Given the description of an element on the screen output the (x, y) to click on. 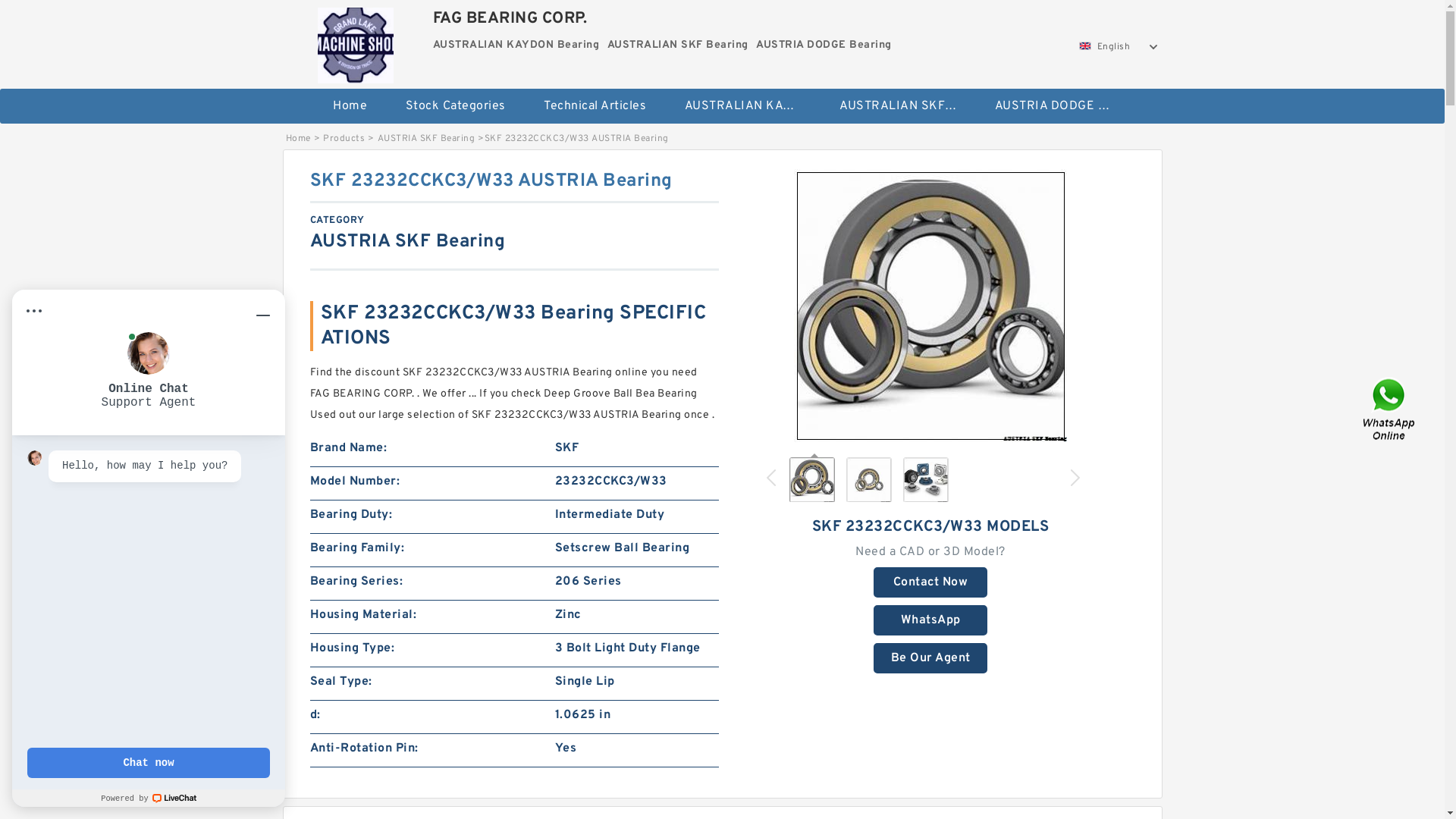
Home Element type: text (297, 138)
AUSTRIA SKF Bearing Element type: text (426, 138)
AUSTRALIAN SKF Bearing Element type: text (897, 105)
Contact Now Element type: text (930, 582)
AUSTRALIAN KAYDON Bearing Element type: text (743, 105)
Be Our Agent Element type: text (930, 658)
SKF 23232CCKC3/W33 AUSTRIA Bearing image Element type: hover (929, 305)
Technical Articles Element type: text (594, 105)
WhatsApp Element type: text (930, 620)
Products Element type: text (343, 138)
AUSTRIA DODGE Bearing Element type: text (1053, 105)
Home Element type: text (349, 105)
FAG BEARING CORP. Element type: hover (355, 41)
Contact Us Element type: hover (1389, 409)
Stock Categories Element type: text (455, 105)
